Given the description of an element on the screen output the (x, y) to click on. 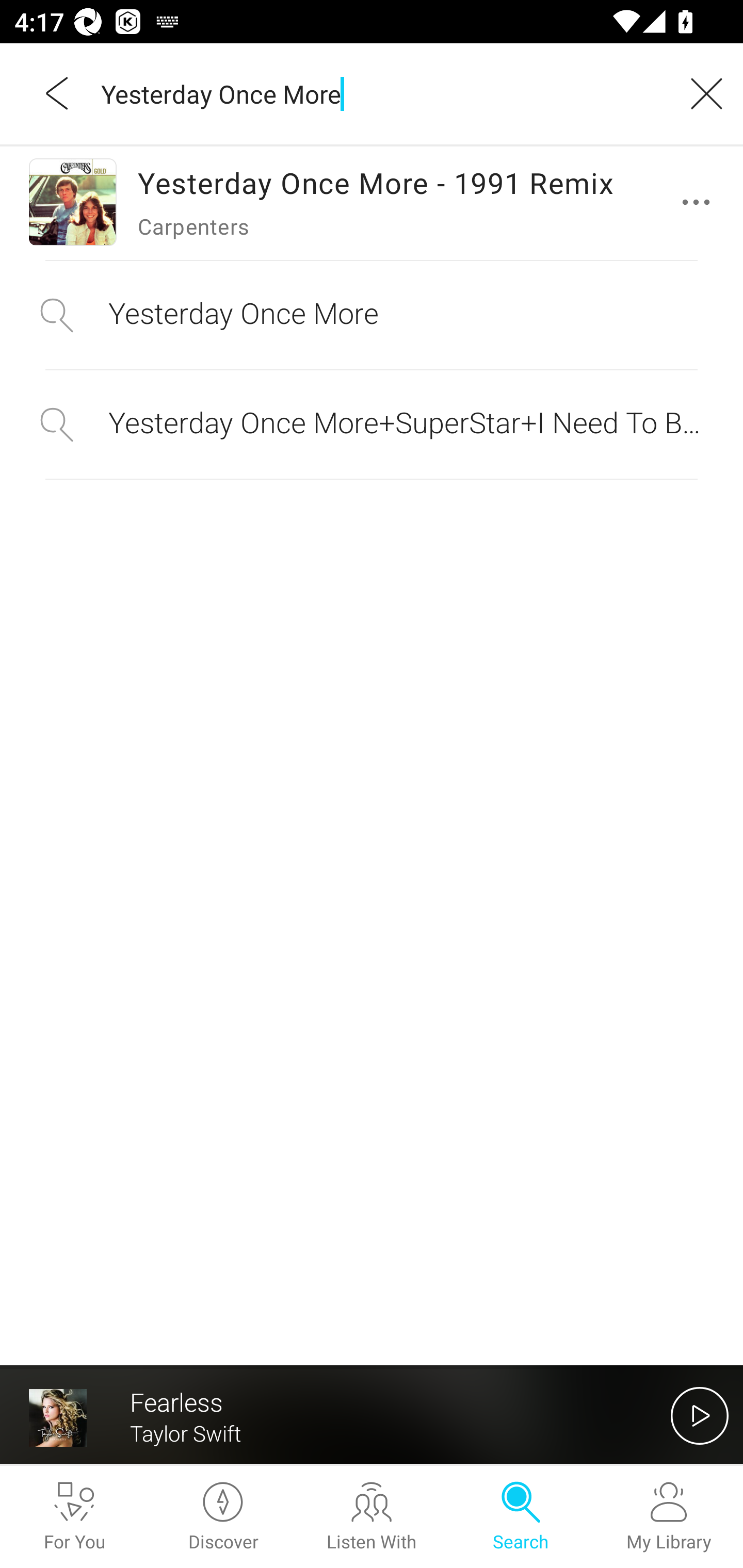
Yesterday Once More (378, 92)
Clear query (699, 92)
Back,outside of the list (57, 93)
更多操作選項 (699, 202)
Yesterday Once More (371, 315)
Yesterday Once More+SuperStar+I Need To Be In Love (371, 424)
開始播放 (699, 1415)
For You (74, 1517)
Discover (222, 1517)
Listen With (371, 1517)
Search (519, 1517)
My Library (668, 1517)
